Given the description of an element on the screen output the (x, y) to click on. 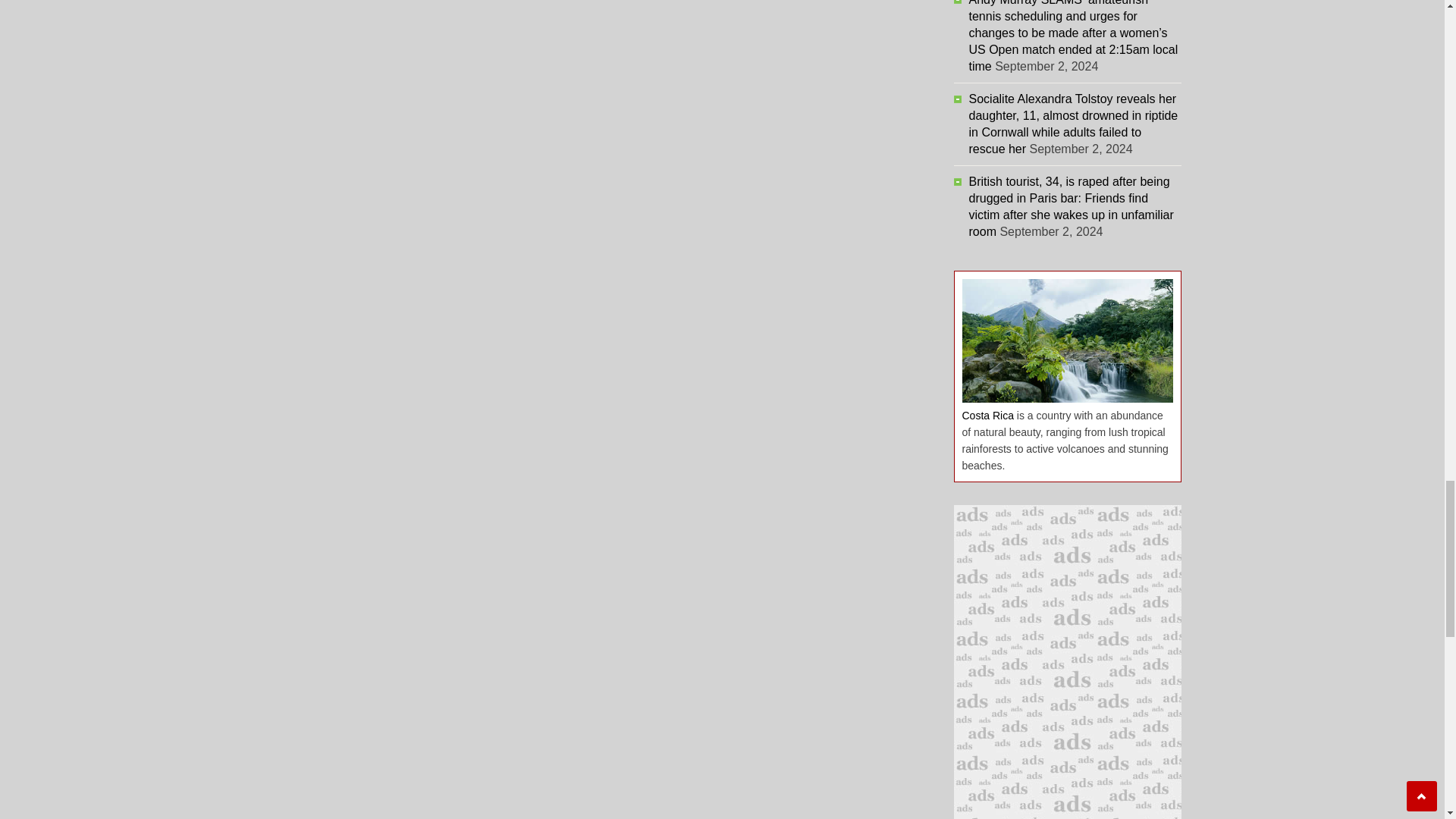
Costa Rica (986, 415)
